Given the description of an element on the screen output the (x, y) to click on. 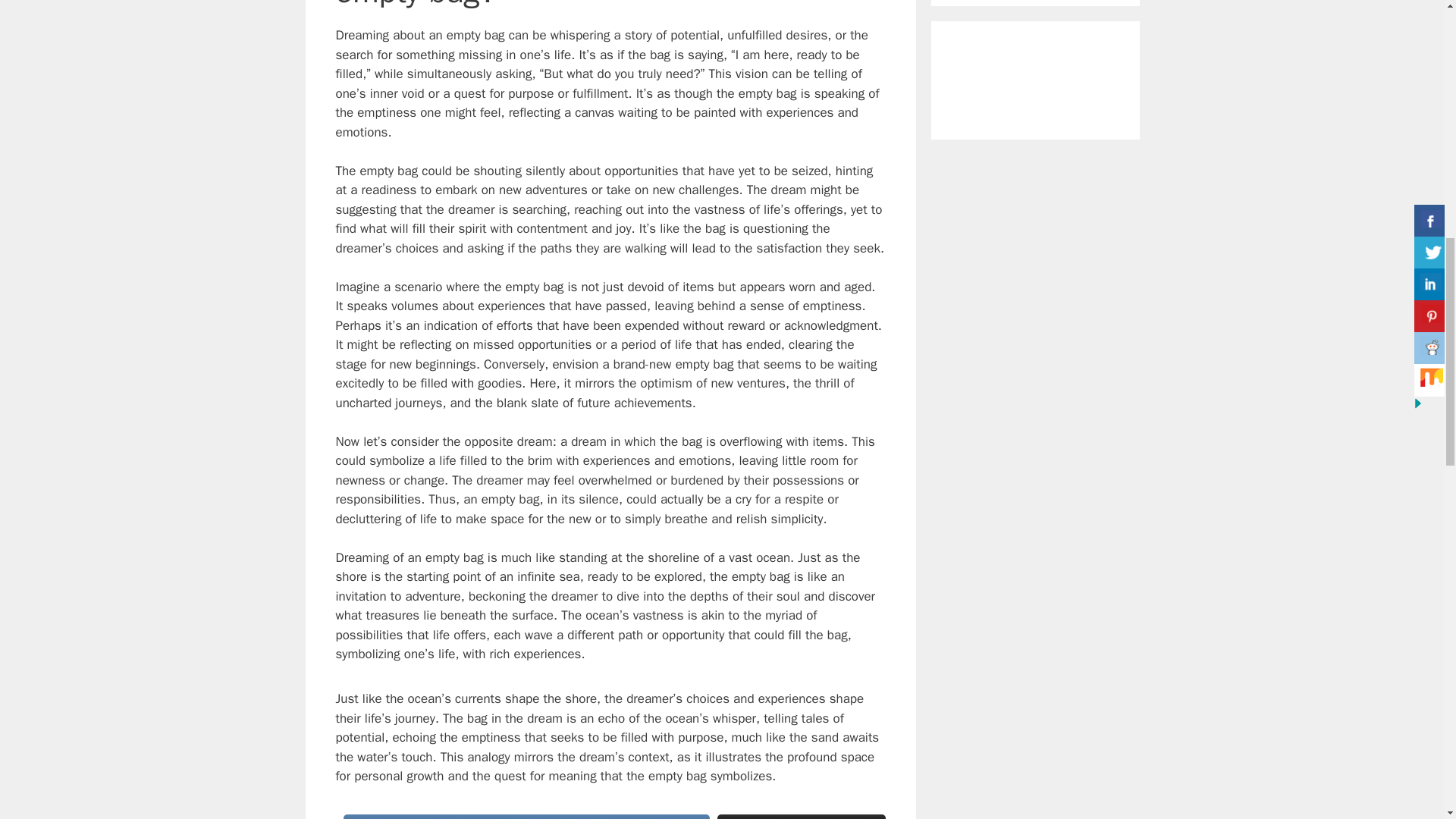
Facebook (525, 816)
Twitter (801, 816)
